Given the description of an element on the screen output the (x, y) to click on. 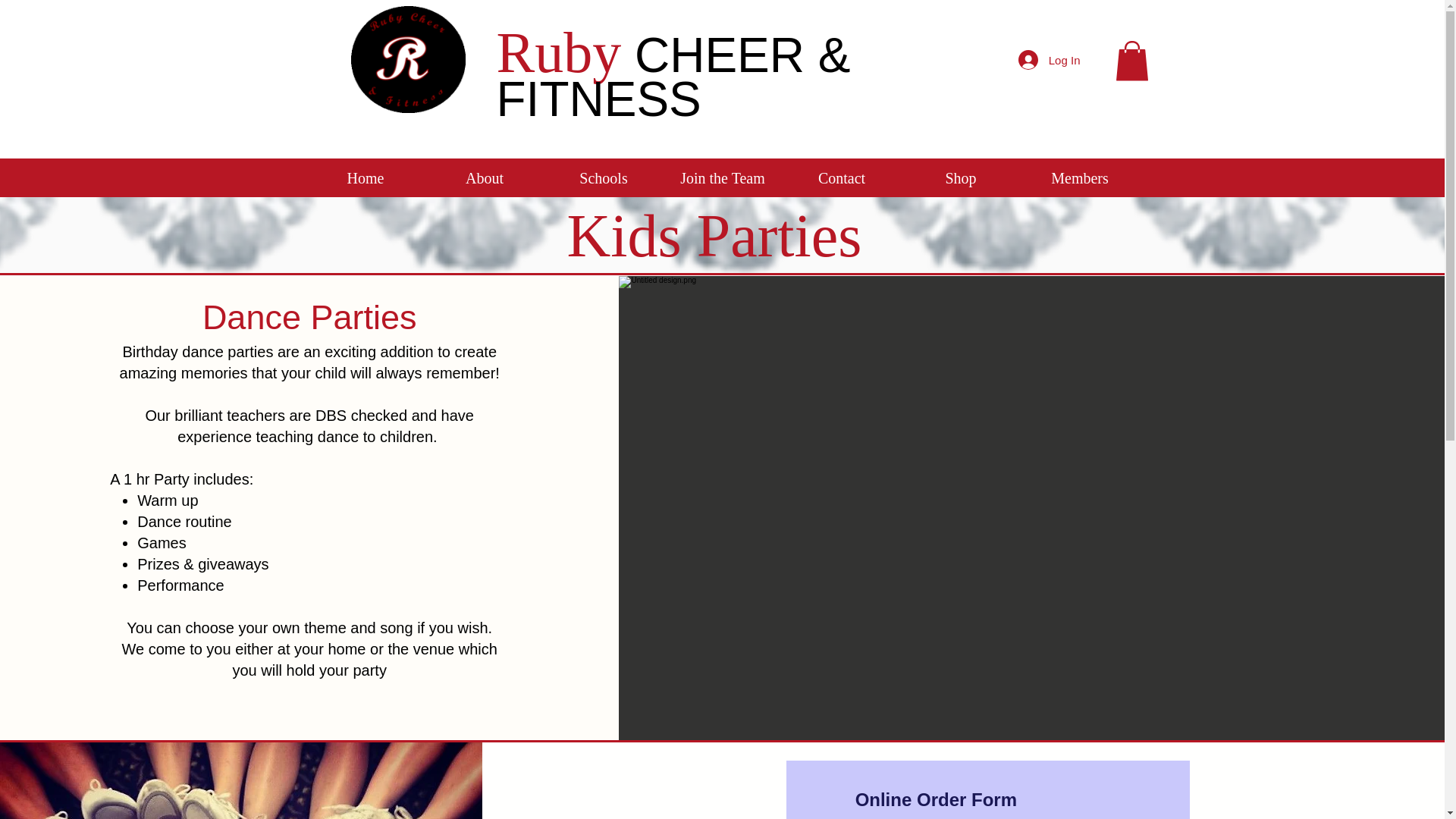
Contact (841, 178)
Home (365, 178)
Log In (1048, 59)
Ruby (558, 52)
Shop (960, 178)
Join the Team (721, 178)
